Given the description of an element on the screen output the (x, y) to click on. 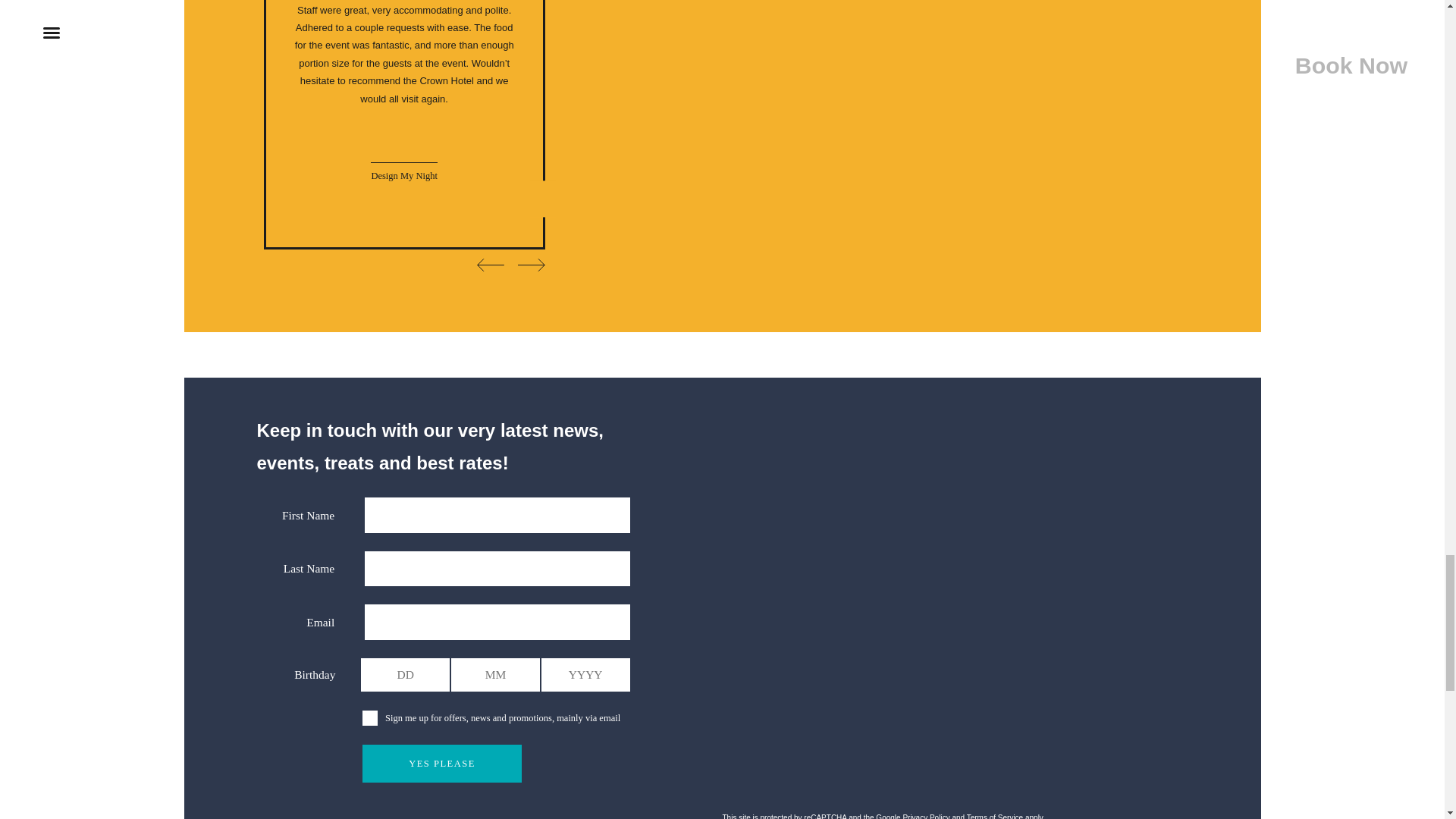
YES PLEASE (441, 763)
Privacy Policy (925, 816)
Terms of Service (994, 816)
